Given the description of an element on the screen output the (x, y) to click on. 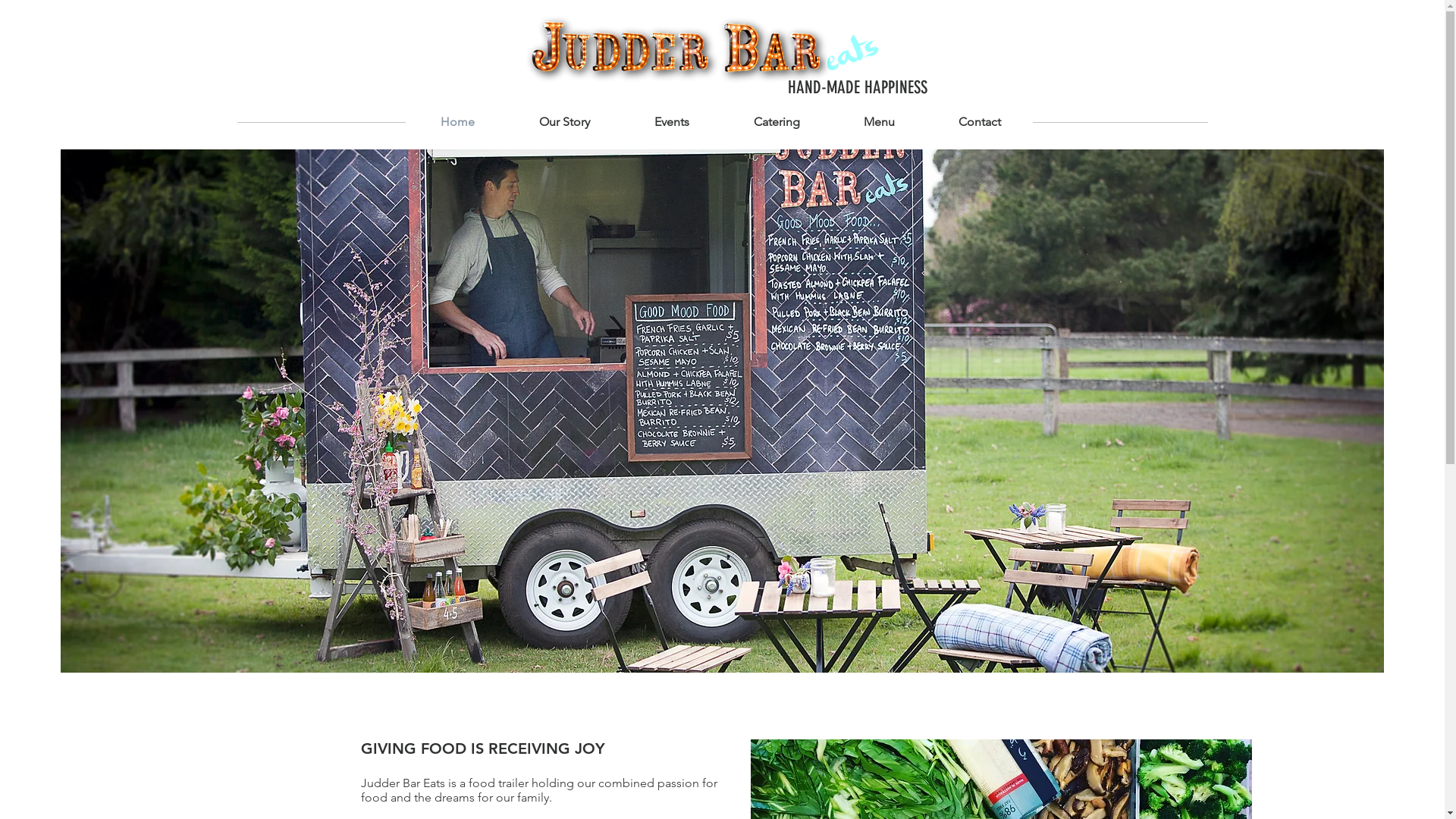
Menu Element type: text (878, 122)
Catering Element type: text (776, 122)
Our Story Element type: text (563, 122)
Events Element type: text (671, 122)
Contact Element type: text (979, 122)
Home Element type: text (456, 122)
